Given the description of an element on the screen output the (x, y) to click on. 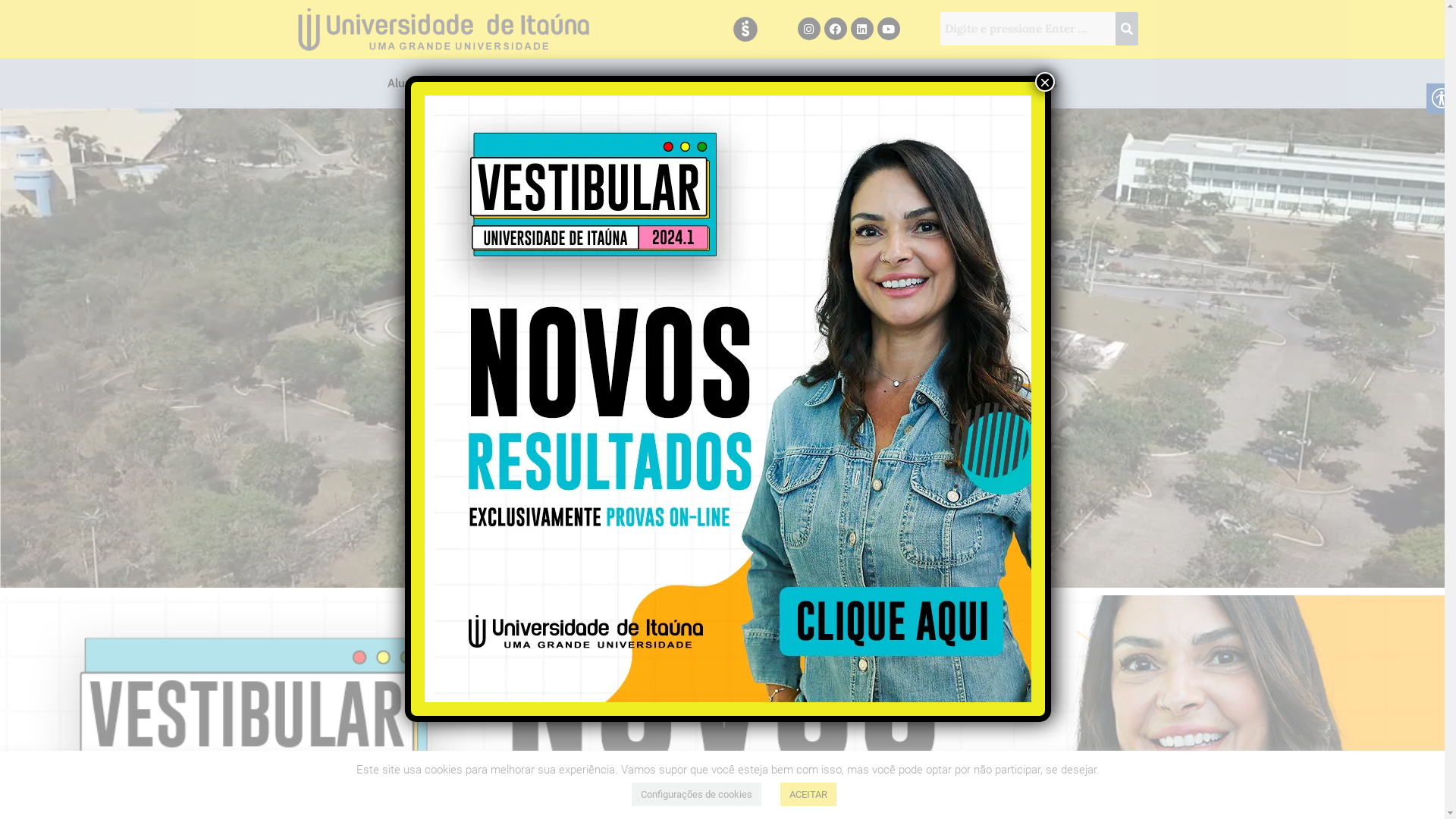
Search Element type: hover (1027, 28)
Linkedin Element type: text (861, 28)
Alunos Element type: text (412, 82)
Cursos Element type: text (751, 82)
Instagram Element type: text (808, 28)
Youtube Element type: text (888, 28)
ACEITAR Element type: text (807, 794)
Vestibular Element type: text (965, 82)
Professores Element type: text (498, 82)
Facebook Element type: text (835, 28)
Biblioteca Element type: text (677, 82)
